Given the description of an element on the screen output the (x, y) to click on. 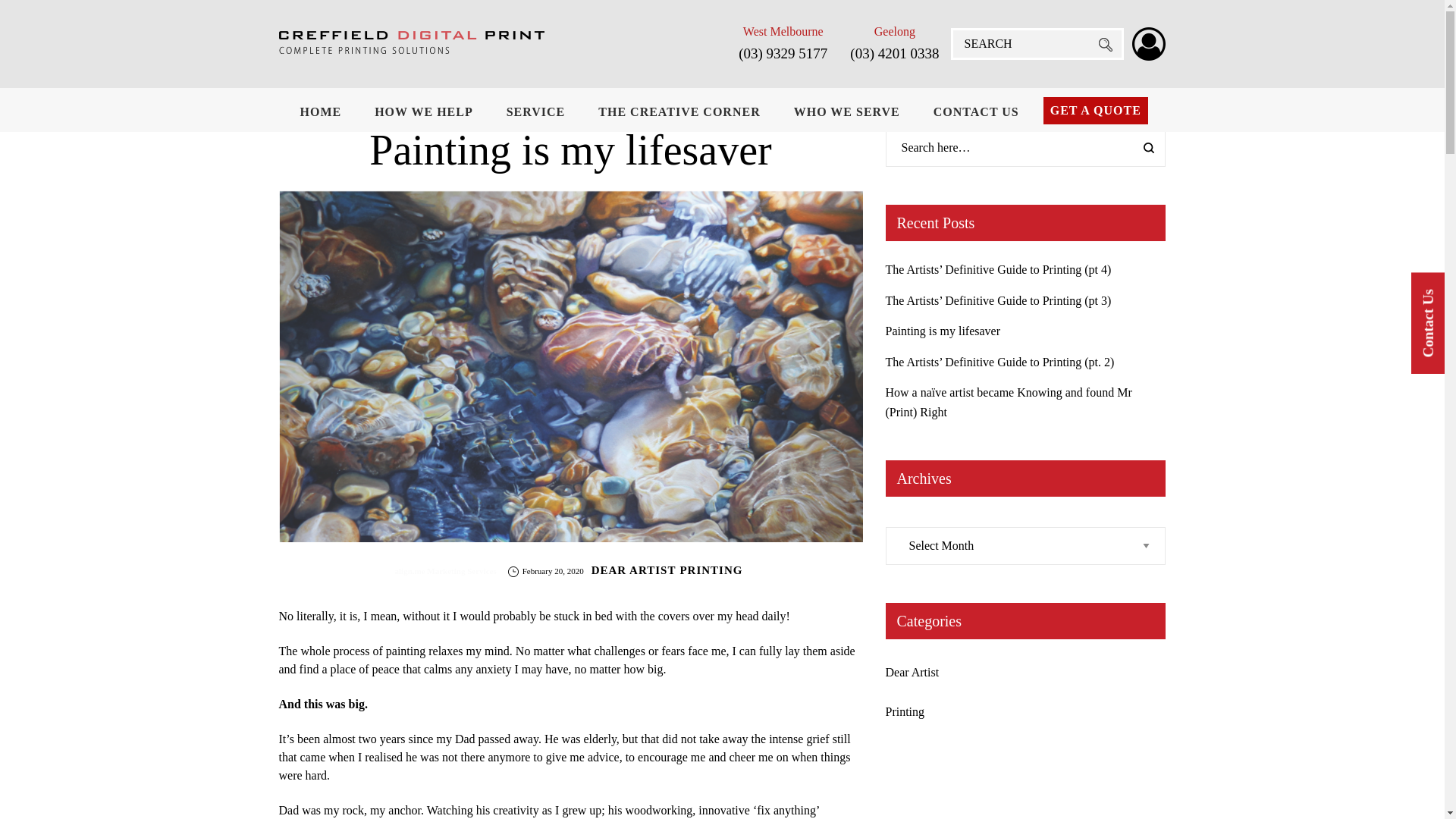
(03) 4201 0338 Element type: text (894, 53)
CONTACT US Element type: text (976, 112)
February 20, 2020 Element type: text (549, 570)
THE CREATIVE CORNER Element type: text (678, 112)
Printing Element type: text (905, 711)
SEARCH Element type: text (1104, 44)
HOME Element type: text (321, 112)
GET A QUOTE Element type: text (1095, 110)
SERVICE Element type: text (535, 112)
by
align.me Marketing Services Element type: text (445, 570)
Search for: Element type: hover (1025, 147)
WHO WE SERVE Element type: text (846, 112)
PRINTING Element type: text (710, 570)
(03) 9329 5177 Element type: text (782, 53)
Dear Artist Element type: text (912, 671)
HOW WE HELP Element type: text (423, 112)
DEAR ARTIST Element type: text (633, 570)
Painting is my lifesaver Element type: text (943, 330)
